Given the description of an element on the screen output the (x, y) to click on. 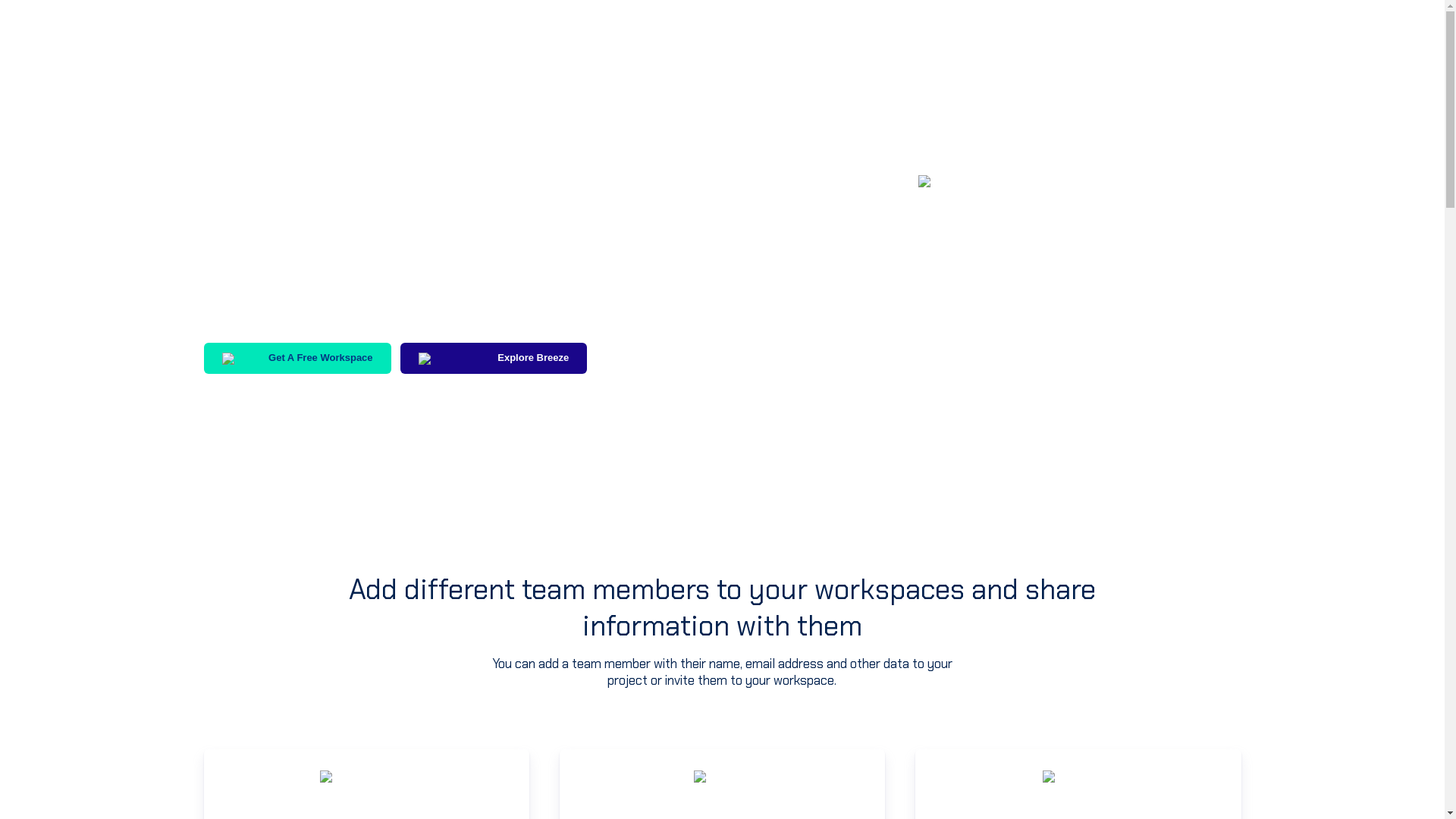
Explore Breeze Element type: text (493, 357)
Get A Free Workspace Element type: text (296, 357)
